Given the description of an element on the screen output the (x, y) to click on. 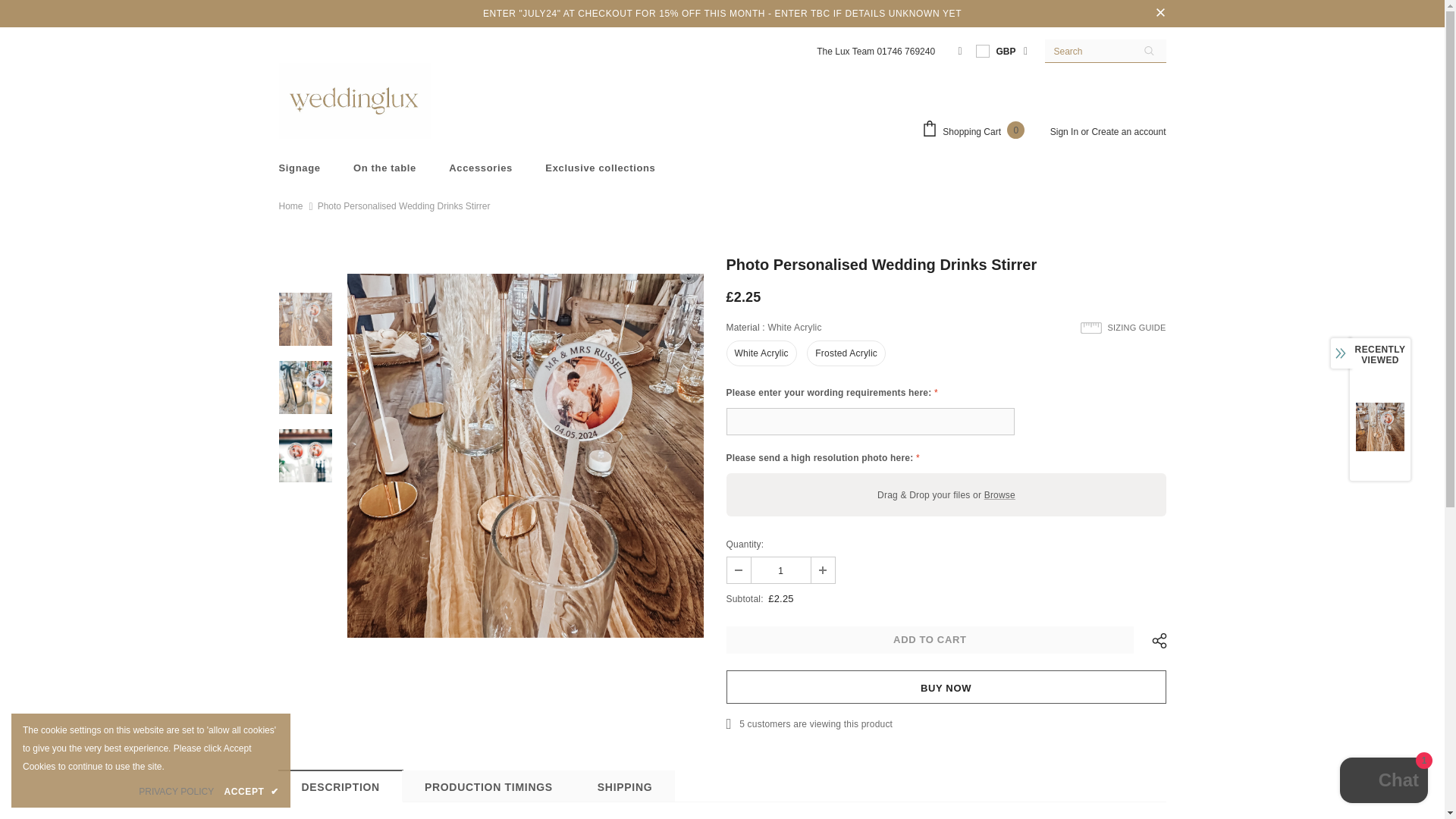
Shopping Cart 0 (976, 130)
Cart (976, 130)
close (1160, 13)
Sign In (1065, 131)
1 (780, 570)
Create an account (1128, 131)
Add to cart (930, 639)
Logo (354, 100)
